Given the description of an element on the screen output the (x, y) to click on. 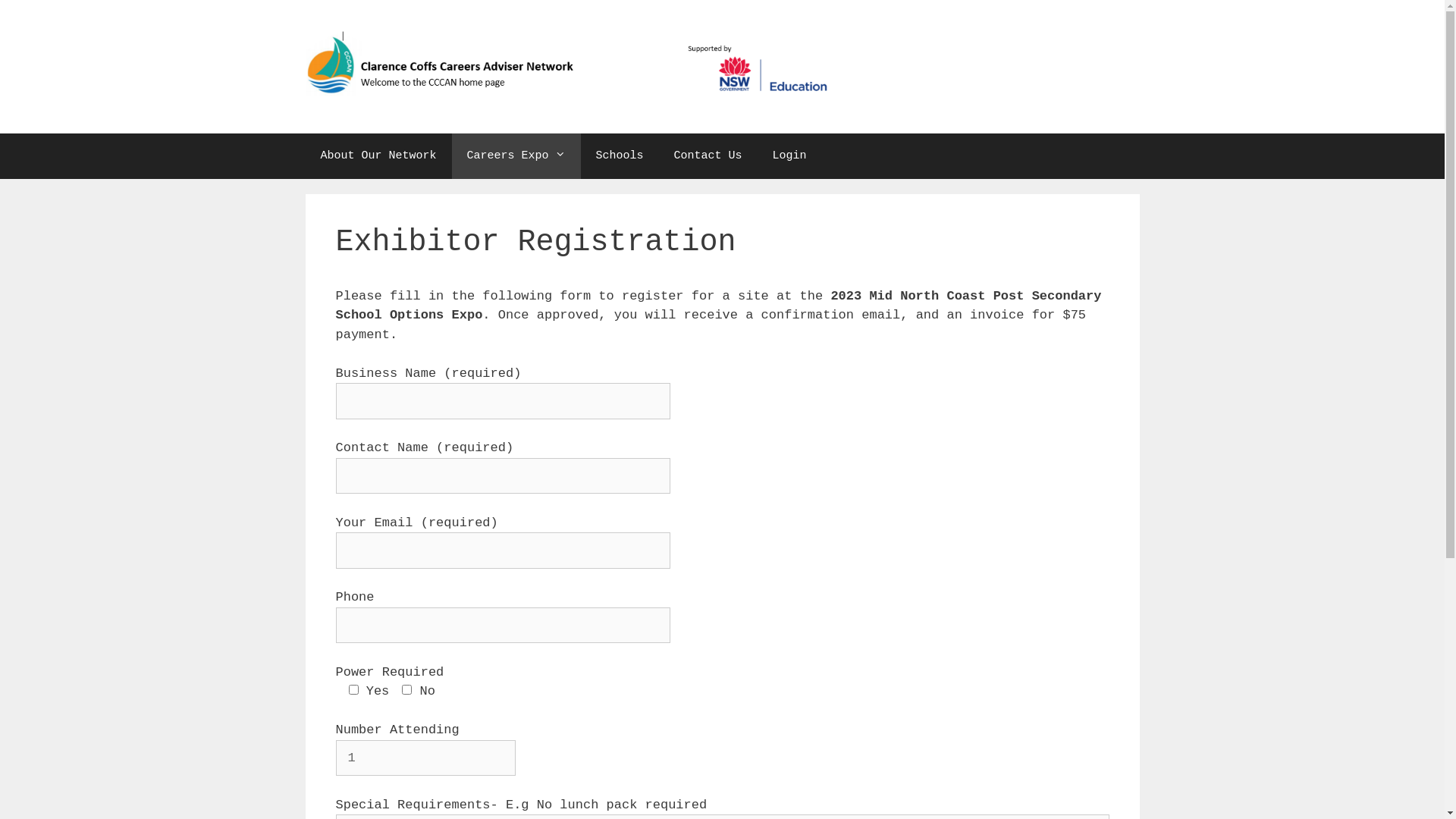
Login Element type: text (789, 155)
Schools Element type: text (619, 155)
Clarence Coffs Careers Advisers Network Element type: hover (566, 66)
Clarence Coffs Careers Advisers Network Element type: hover (566, 66)
Contact Us Element type: text (707, 155)
About Our Network Element type: text (377, 155)
Careers Expo Element type: text (515, 155)
